Given the description of an element on the screen output the (x, y) to click on. 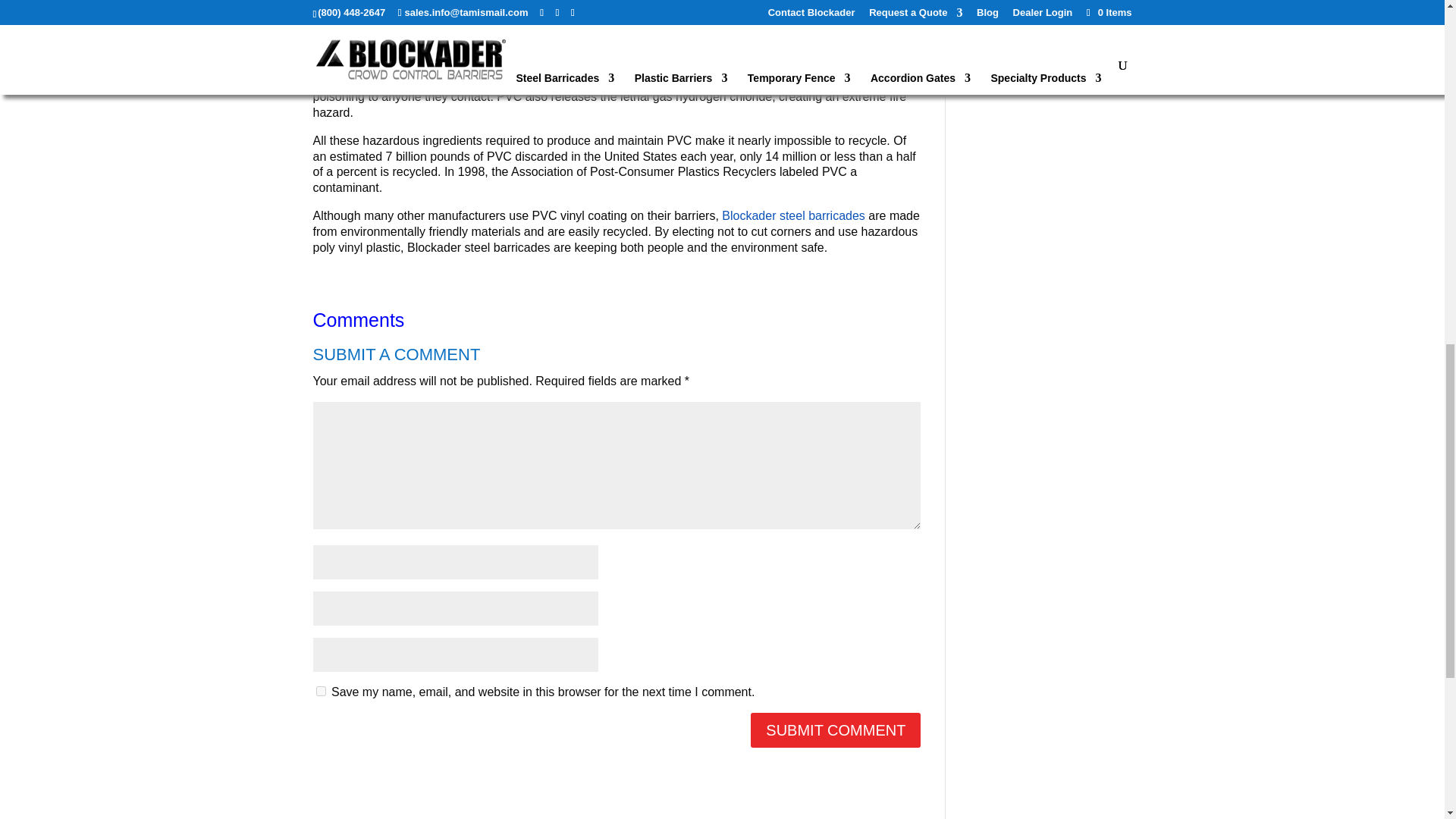
yes (319, 691)
Submit Comment (835, 729)
